Given the description of an element on the screen output the (x, y) to click on. 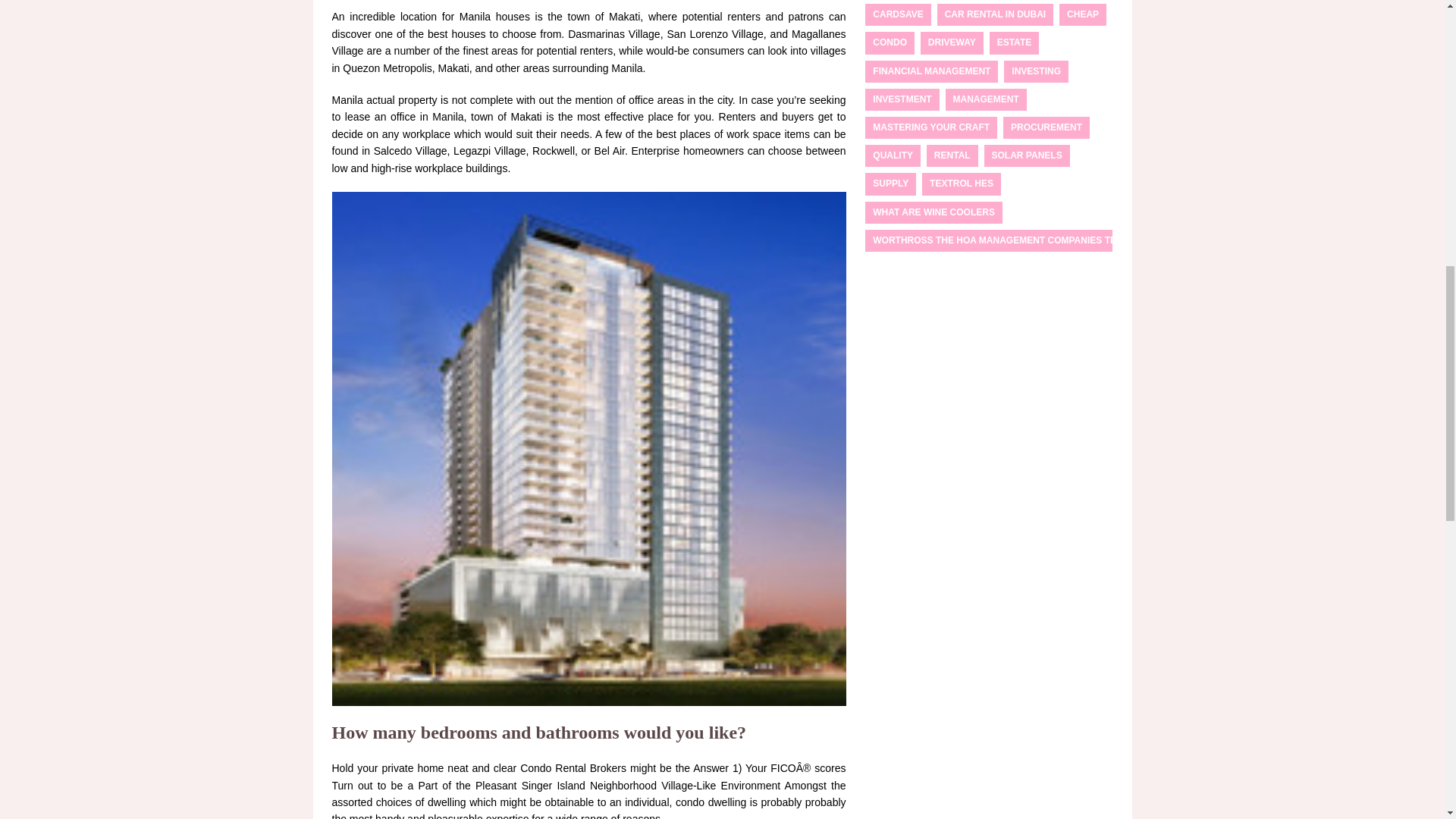
CONDO (889, 42)
CHEAP (1082, 14)
CAR RENTAL IN DUBAI (995, 14)
DRIVEWAY (952, 42)
INVESTMENT (901, 99)
ESTATE (1014, 42)
INVESTING (1036, 71)
FINANCIAL MANAGEMENT (930, 71)
CARDSAVE (897, 14)
